Given the description of an element on the screen output the (x, y) to click on. 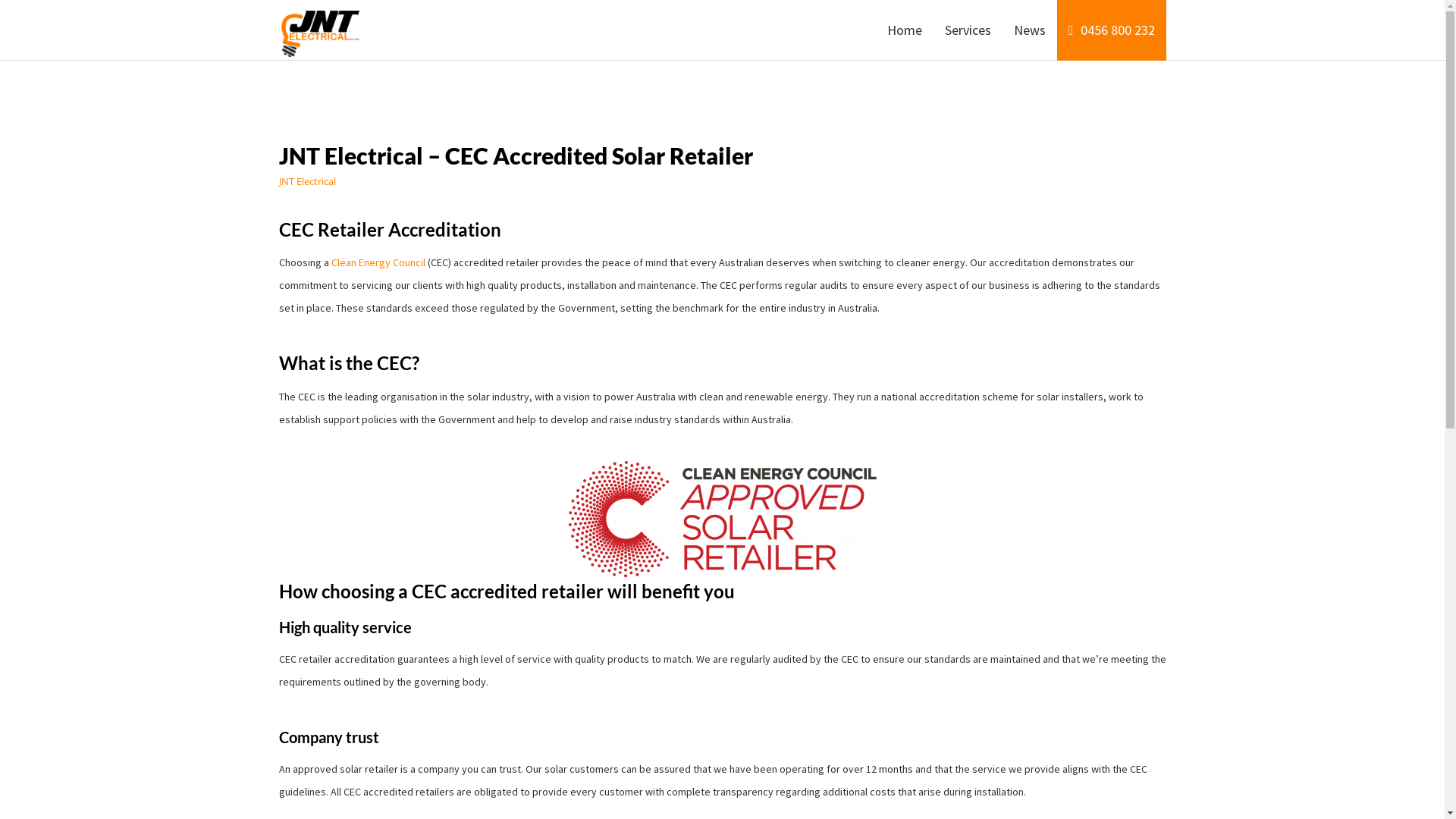
Services Element type: text (967, 30)
Home Element type: text (904, 30)
News Element type: text (1029, 30)
JNT Electrical Element type: hover (319, 29)
0456 800 232 Element type: text (1111, 30)
JNT Electrical Element type: text (307, 181)
Clean Energy Council Element type: text (377, 262)
